Given the description of an element on the screen output the (x, y) to click on. 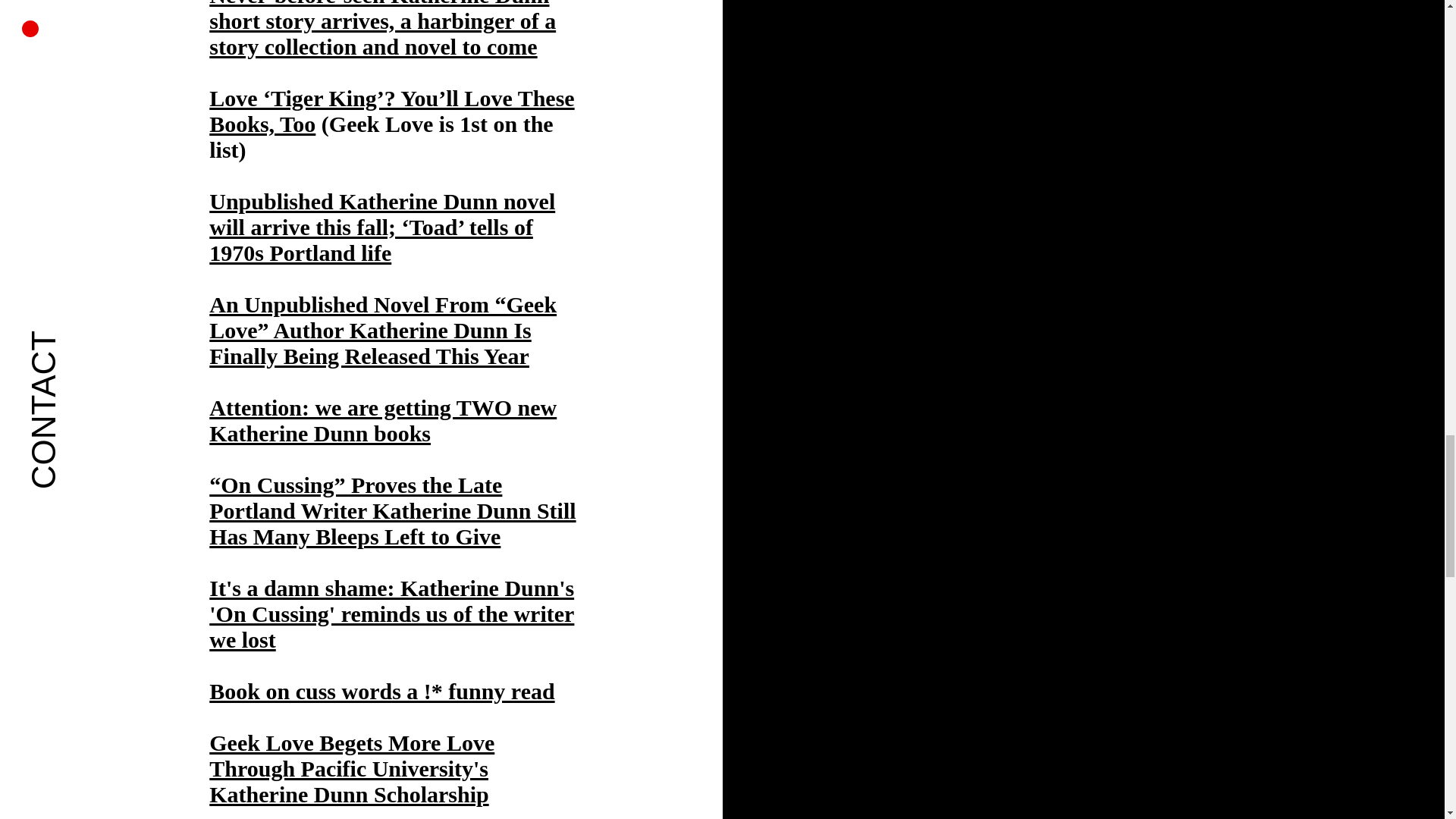
Attention: we are getting TWO new Katherine Dunn books (382, 419)
